Given the description of an element on the screen output the (x, y) to click on. 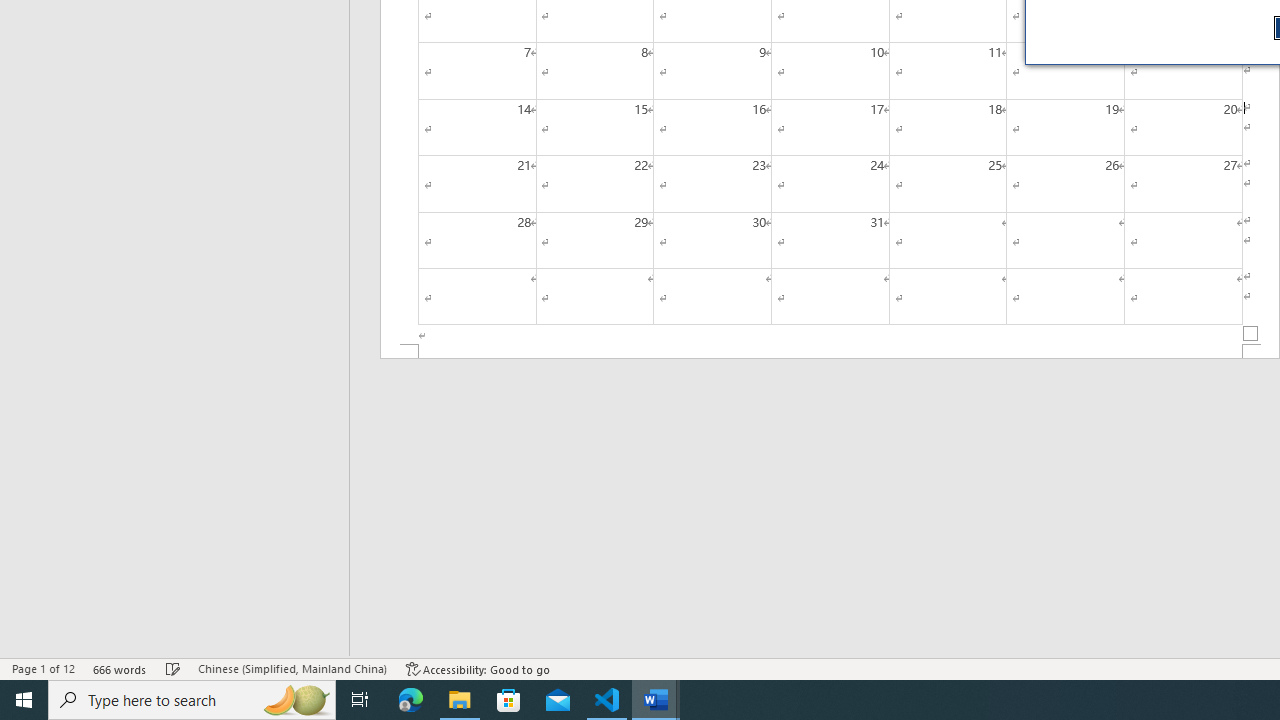
Accessibility Checker Accessibility: Good to go (478, 668)
Word - 2 running windows (656, 699)
